Given the description of an element on the screen output the (x, y) to click on. 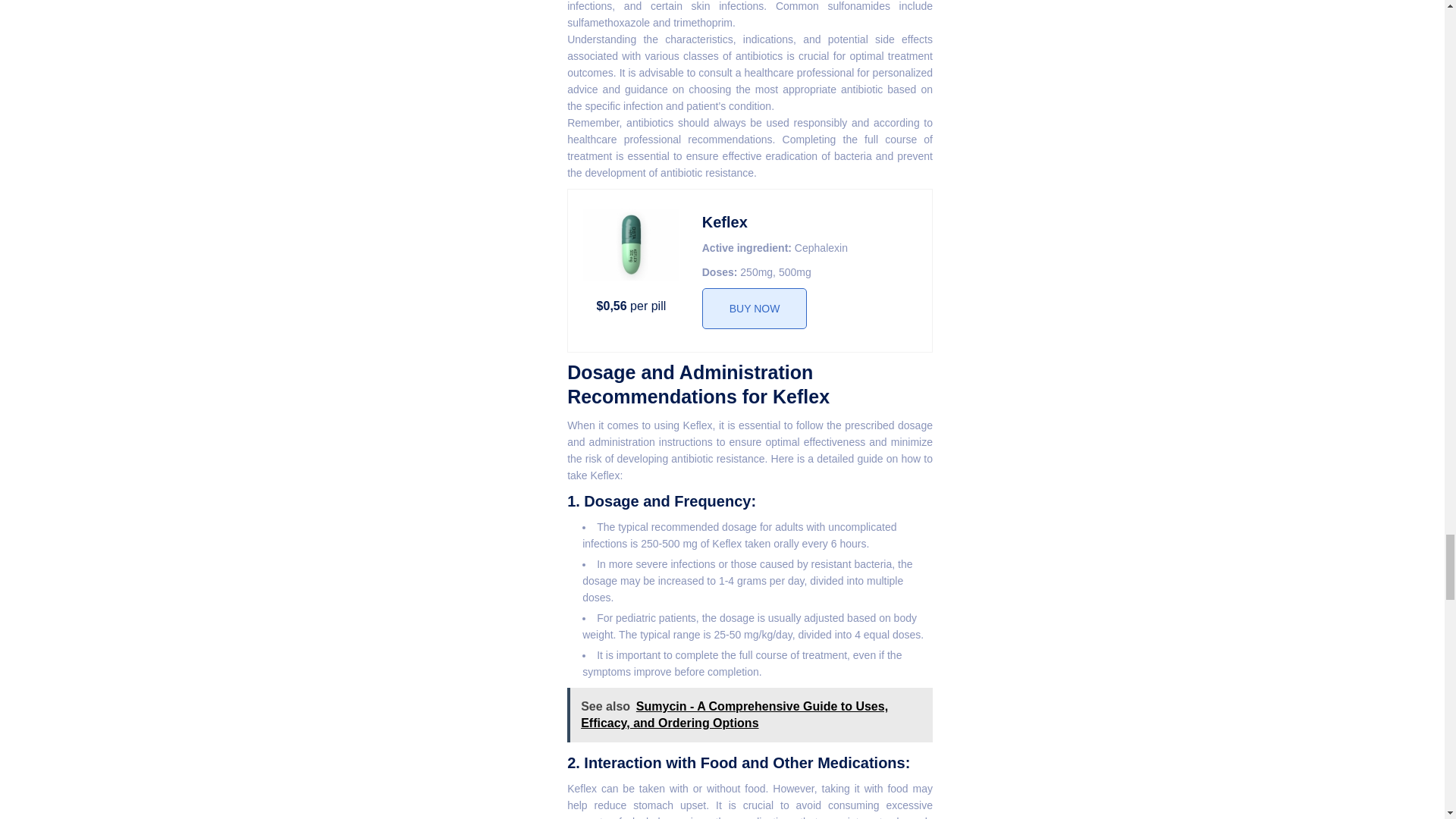
Buy Now (754, 308)
BUY NOW (754, 308)
